Given the description of an element on the screen output the (x, y) to click on. 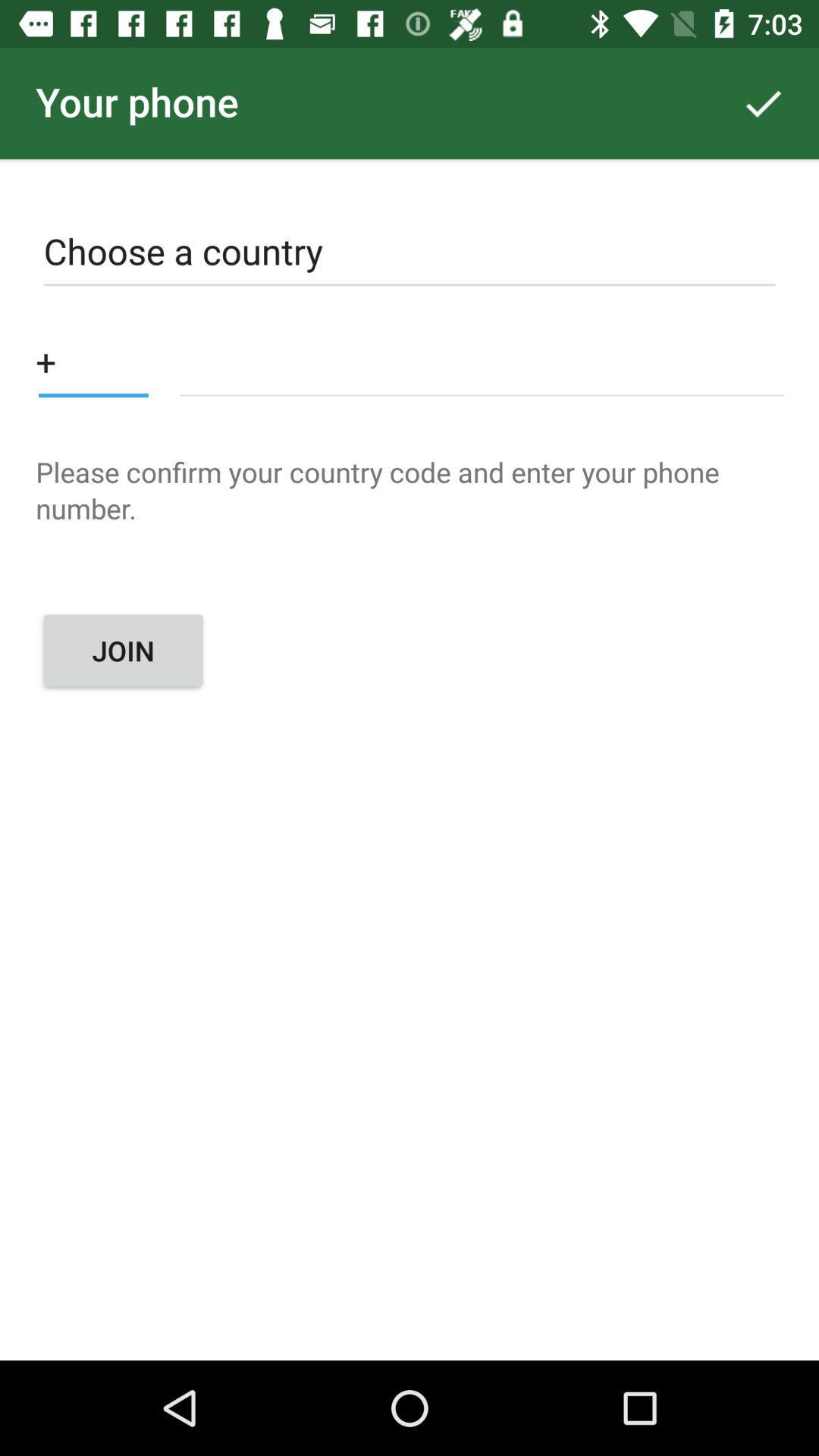
add country code (93, 361)
